Given the description of an element on the screen output the (x, y) to click on. 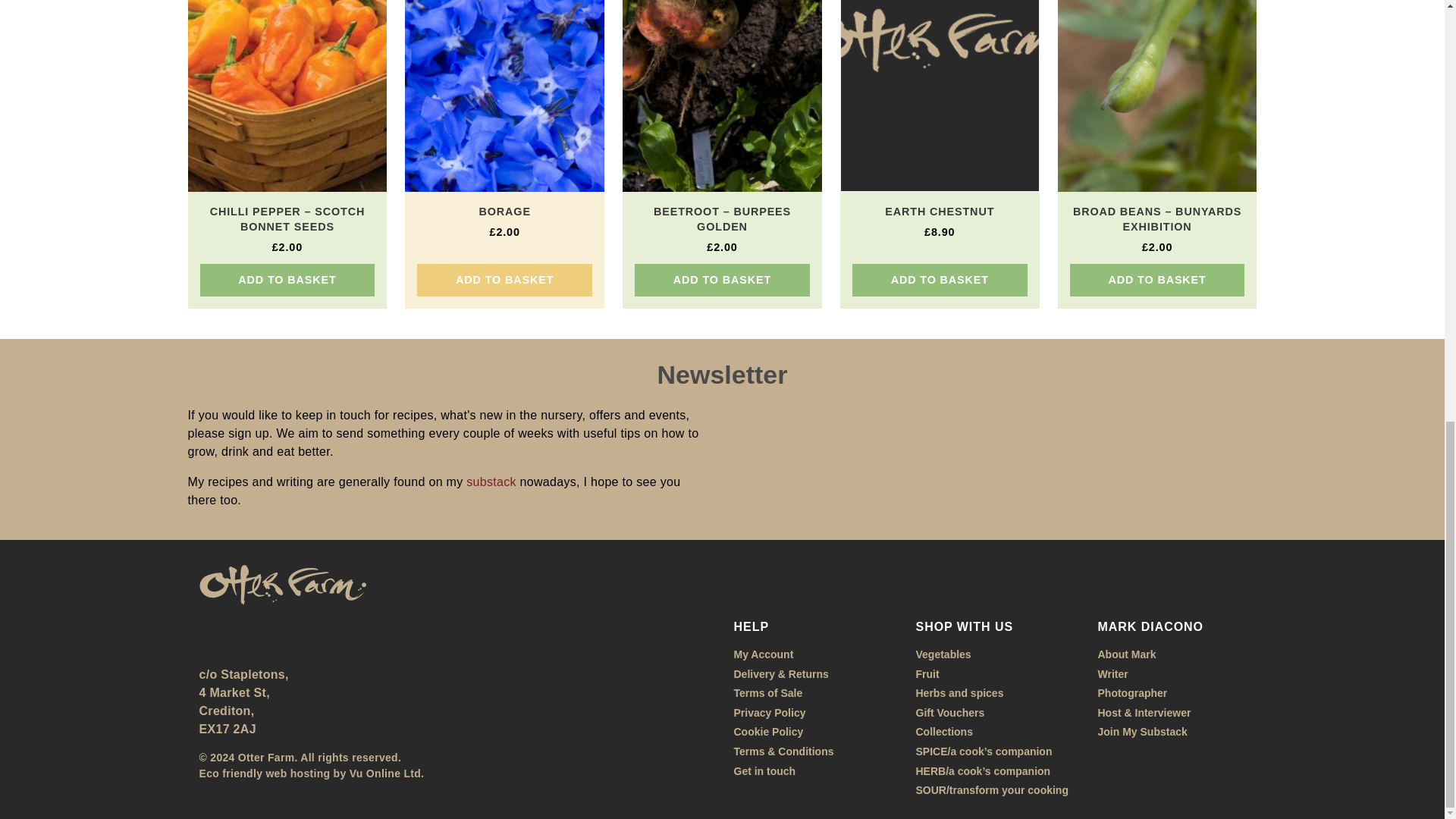
Website designed and developed by vuonline.co.uk (310, 773)
